Given the description of an element on the screen output the (x, y) to click on. 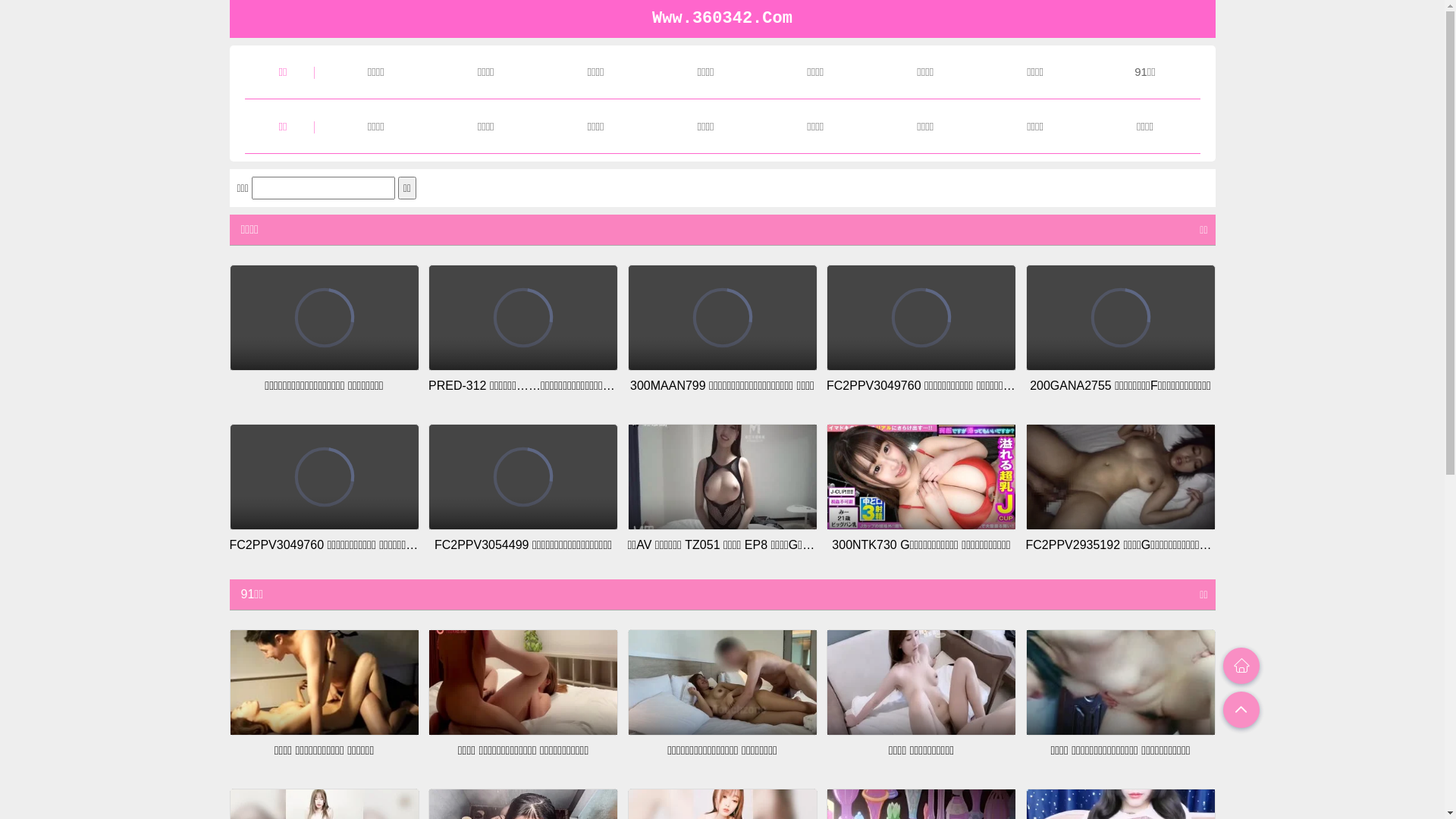
Www.360342.Com Element type: text (722, 18)
